Given the description of an element on the screen output the (x, y) to click on. 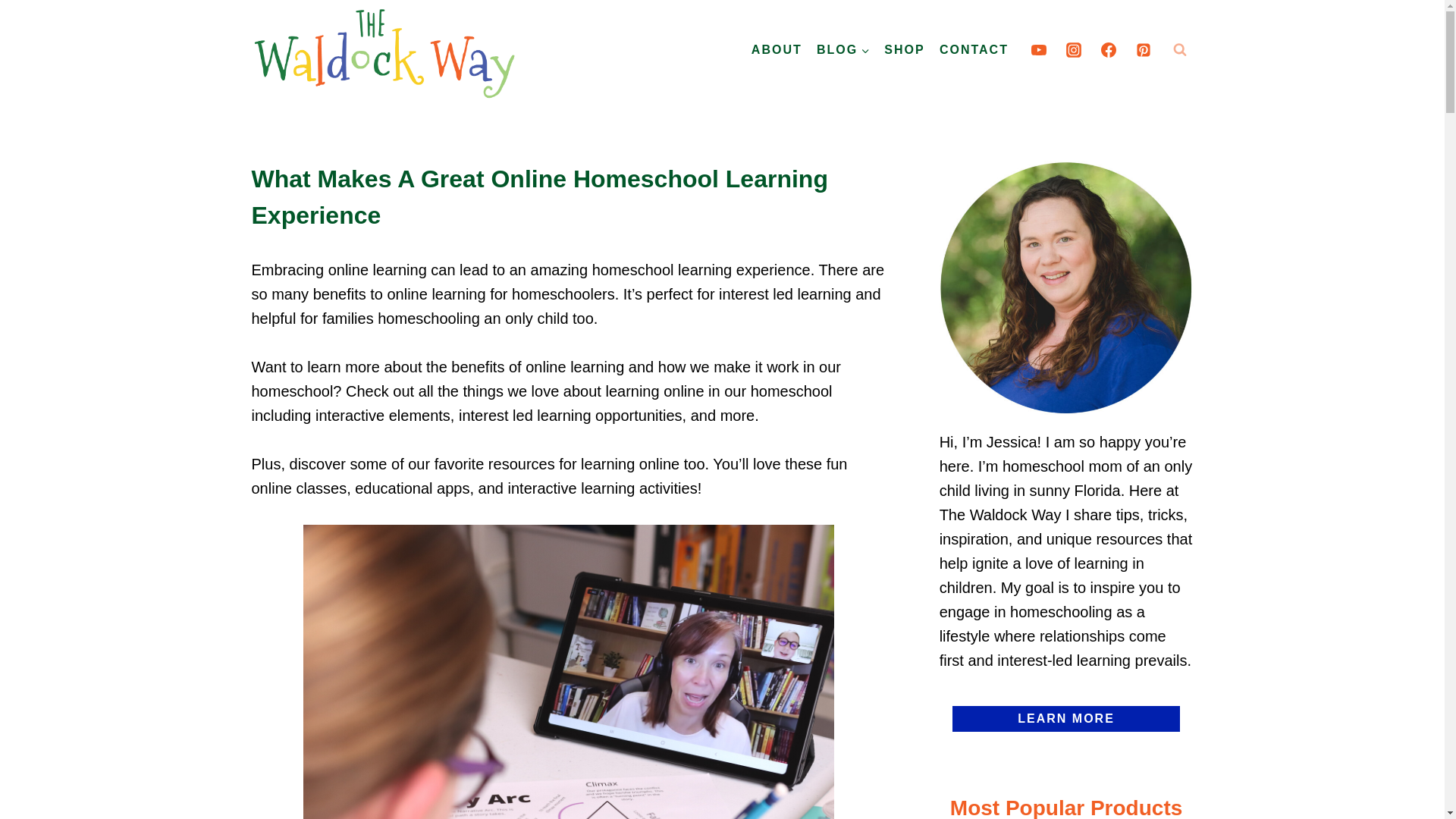
SHOP (905, 49)
CONTACT (972, 49)
ABOUT (776, 49)
BLOG (842, 49)
